Given the description of an element on the screen output the (x, y) to click on. 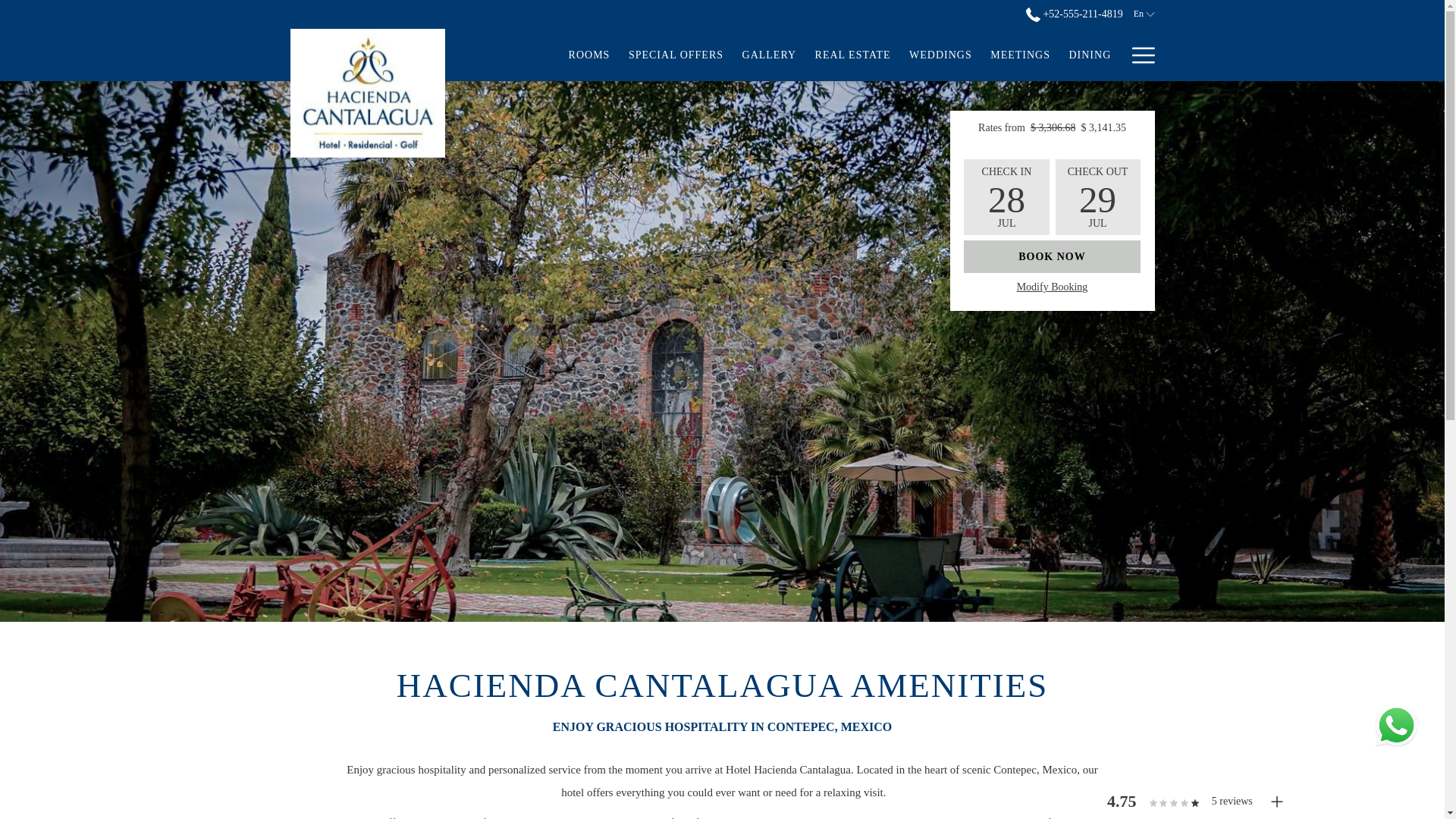
Back to the homepage (367, 93)
REAL ESTATE (852, 54)
DINING (1089, 54)
ROOMS (588, 54)
MEETINGS (1020, 54)
GALLERY (768, 54)
SPECIAL OFFERS (676, 54)
Menu (1051, 256)
Modify Booking (1142, 55)
WEDDINGS (1051, 287)
